Given the description of an element on the screen output the (x, y) to click on. 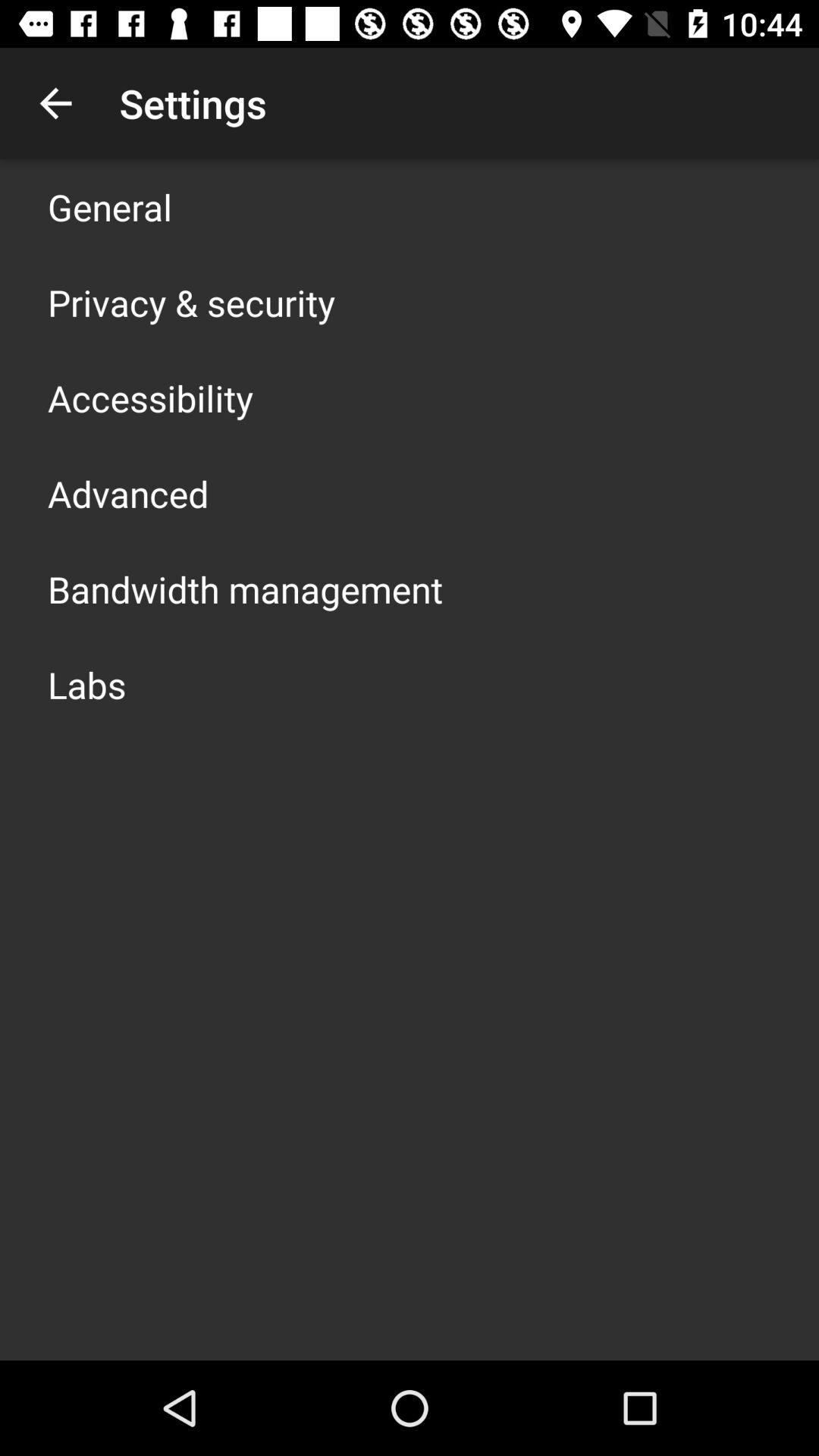
scroll to the advanced icon (127, 493)
